Given the description of an element on the screen output the (x, y) to click on. 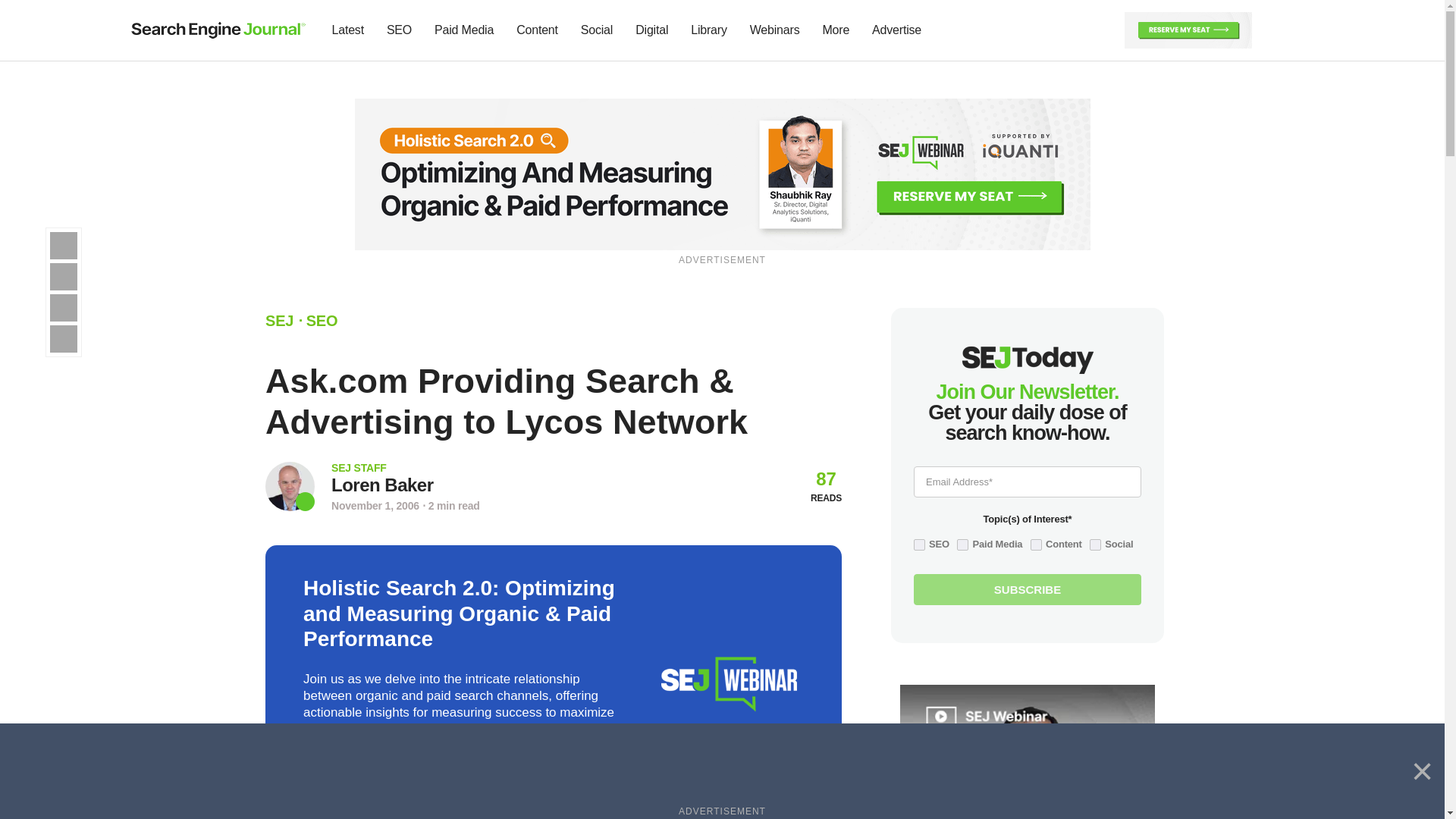
Register For Free (1187, 28)
Latest (347, 30)
Paid Media (464, 30)
Go to Author Page (289, 486)
Go to Author Page (382, 485)
Subscribe to our Newsletter (1277, 30)
Register For Free (722, 172)
